Given the description of an element on the screen output the (x, y) to click on. 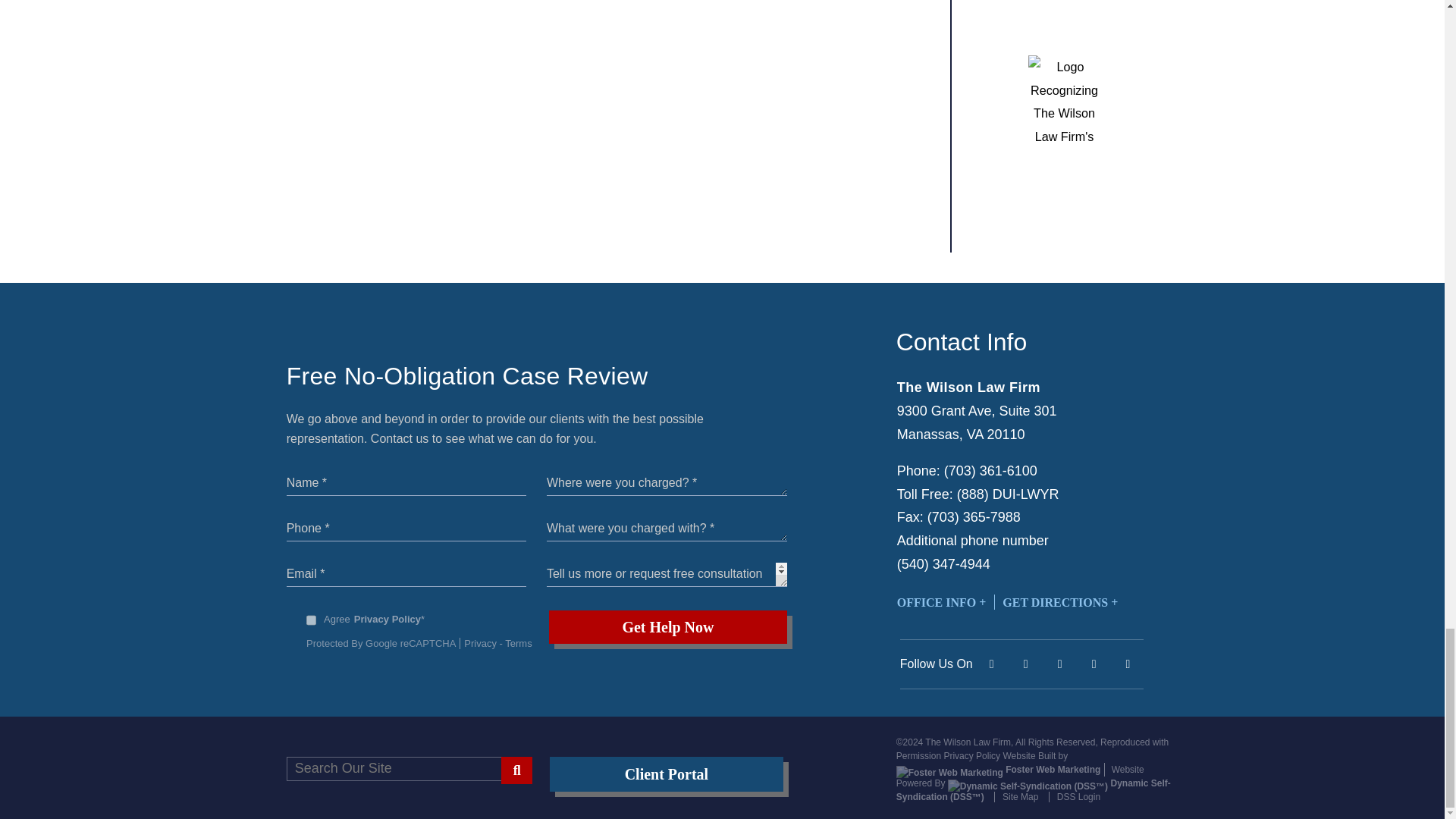
Search (516, 769)
